Given the description of an element on the screen output the (x, y) to click on. 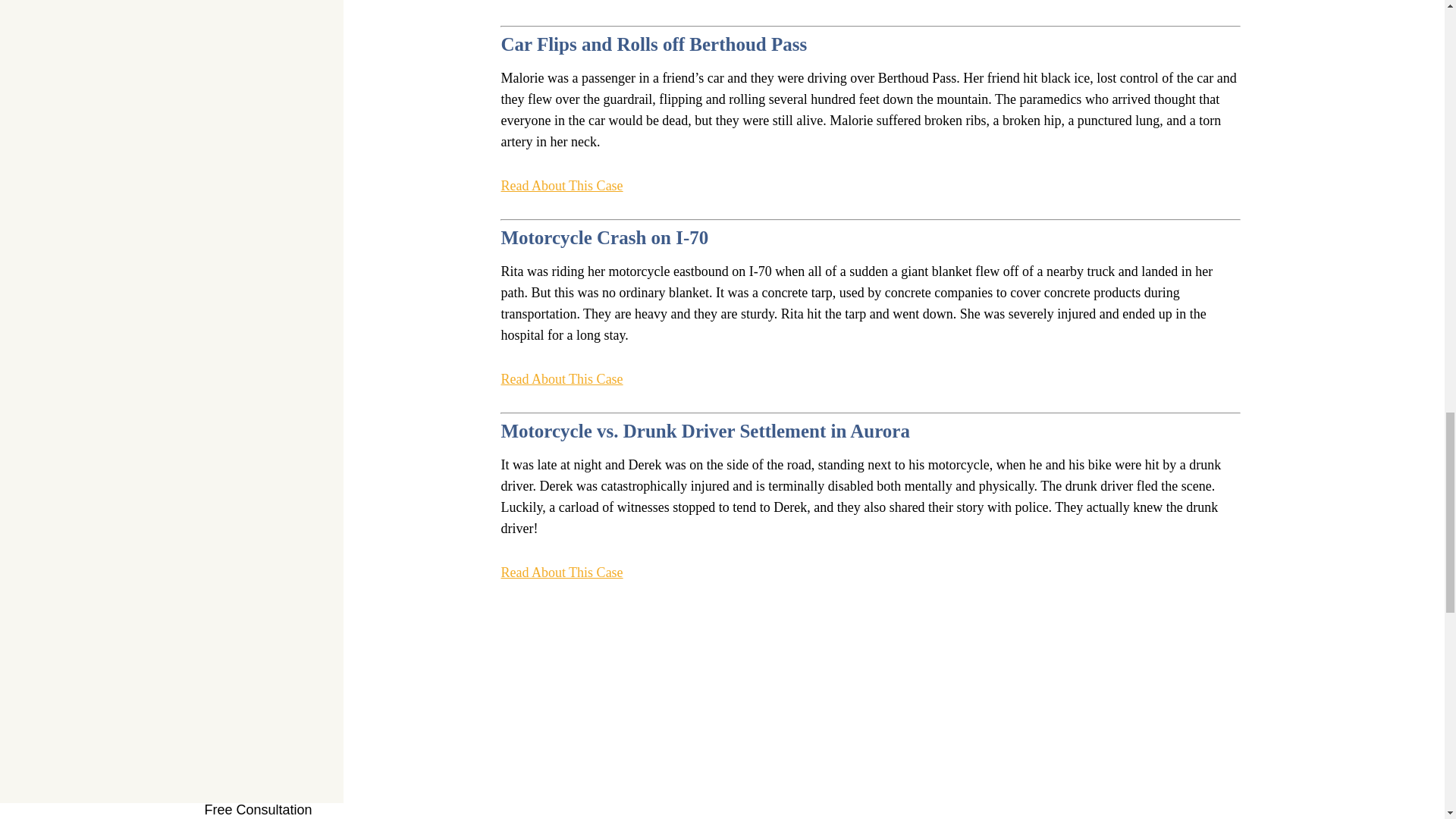
Read About This Case (561, 378)
Read About This Case (561, 1)
Read About This Case (561, 185)
